Given the description of an element on the screen output the (x, y) to click on. 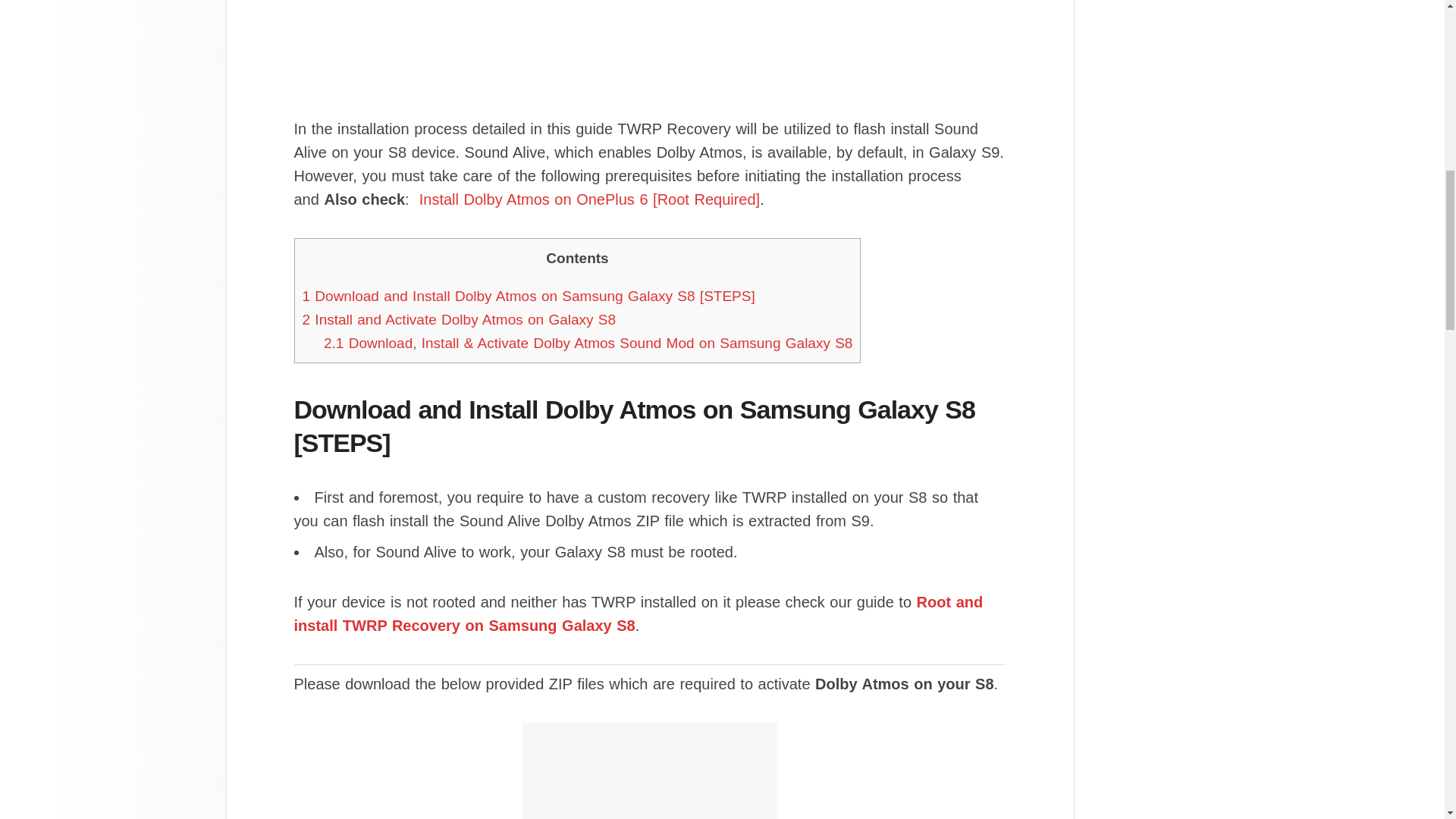
2 Install and Activate Dolby Atmos on Galaxy S8 (458, 319)
Root and install TWRP Recovery on Samsung Galaxy S8 (639, 613)
